Given the description of an element on the screen output the (x, y) to click on. 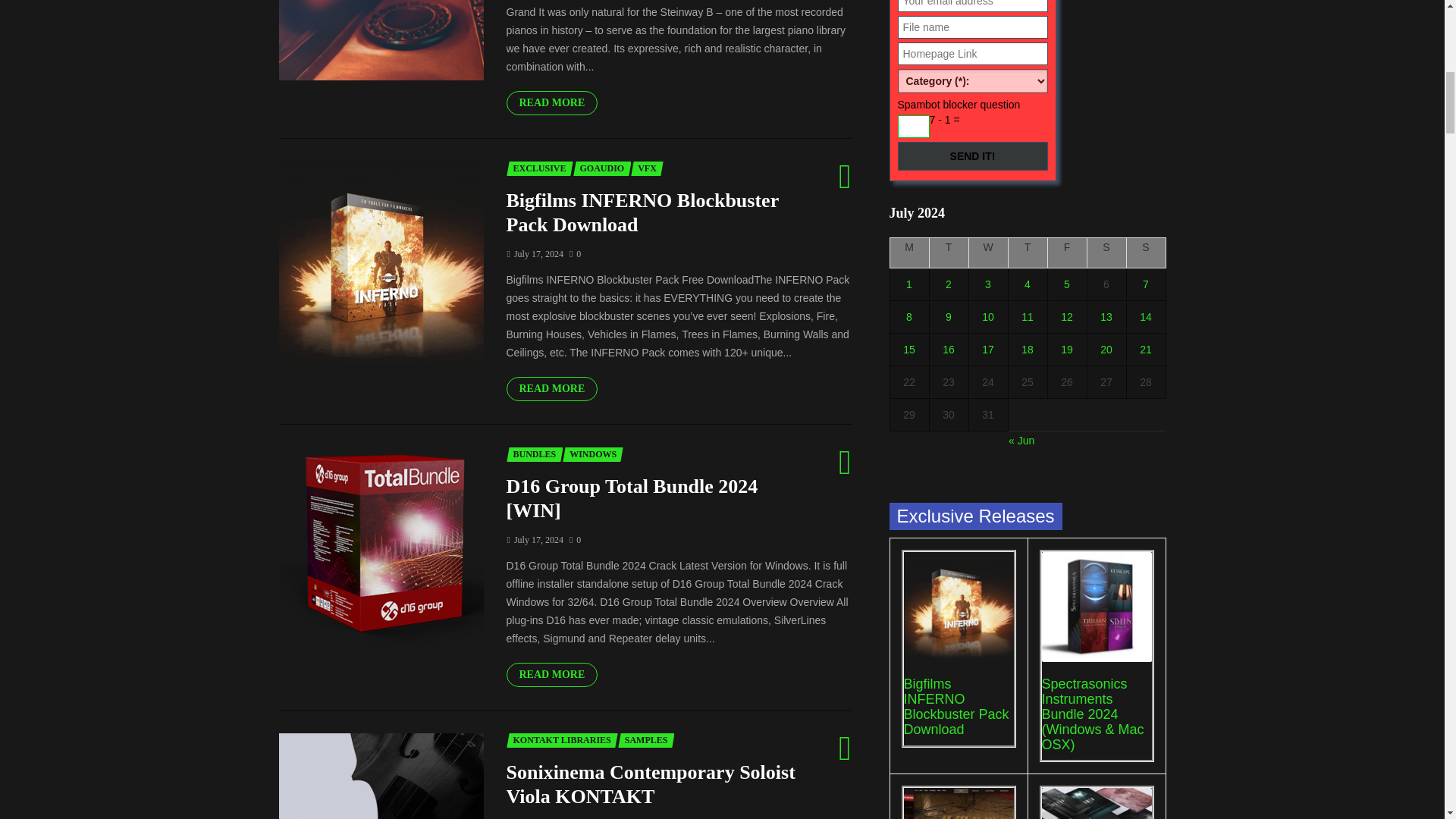
Send it! (973, 155)
